Given the description of an element on the screen output the (x, y) to click on. 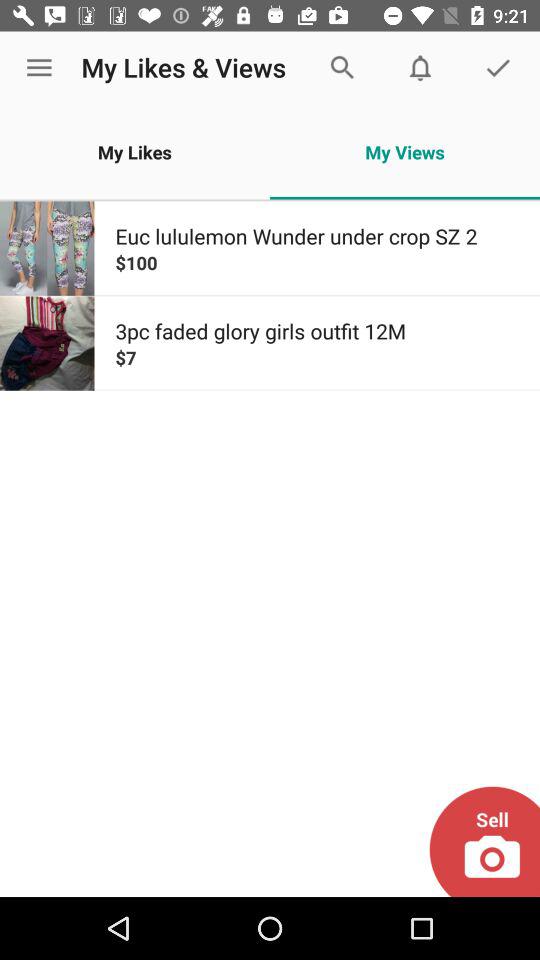
click item next to the my likes & views app (39, 67)
